Given the description of an element on the screen output the (x, y) to click on. 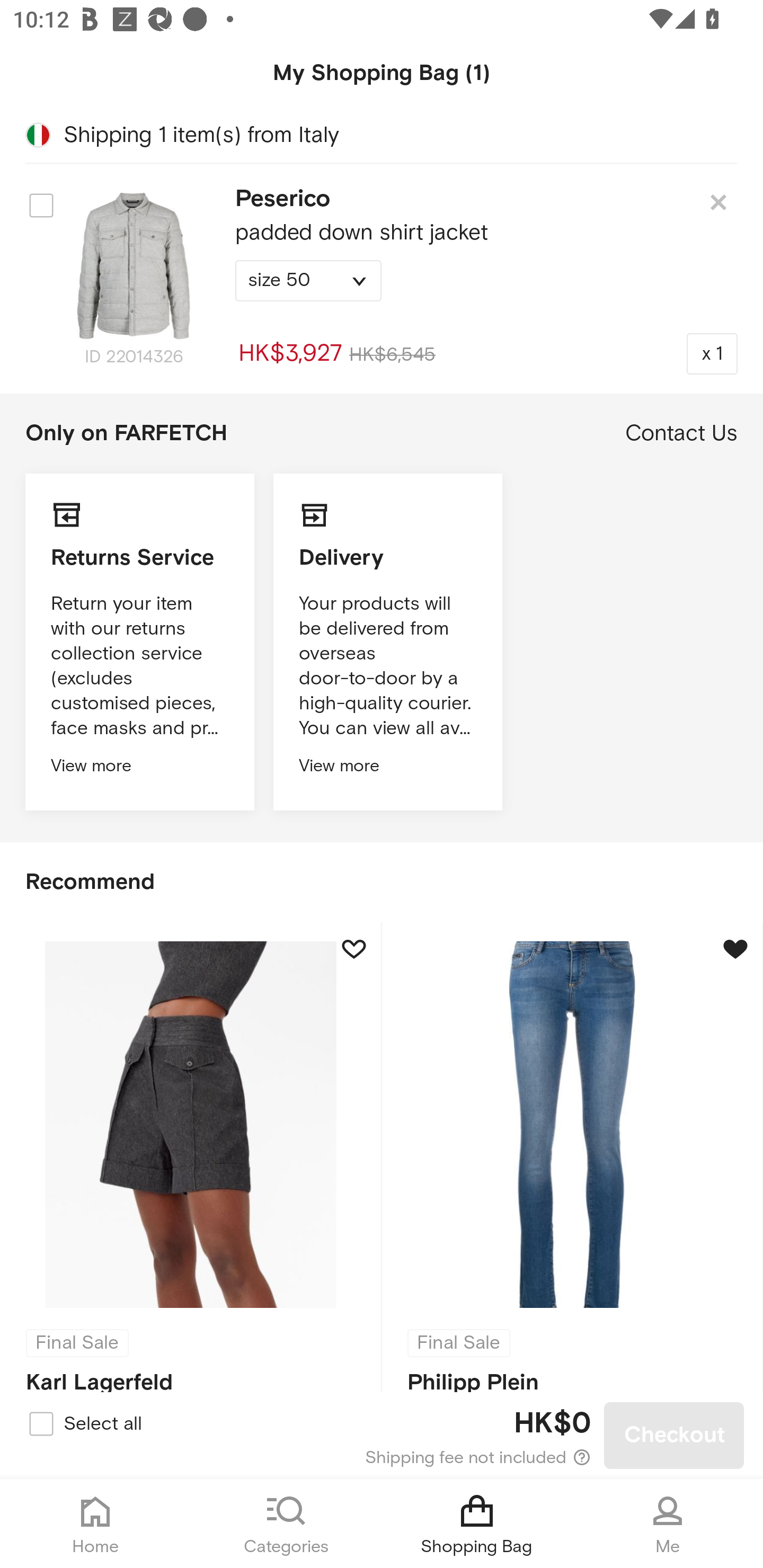
size 50 (308, 280)
x 1 (711, 353)
Contact Us (680, 433)
HK$0 Shipping fee not included (382, 1435)
Checkout (673, 1435)
Home (95, 1523)
Categories (285, 1523)
Me (667, 1523)
